Given the description of an element on the screen output the (x, y) to click on. 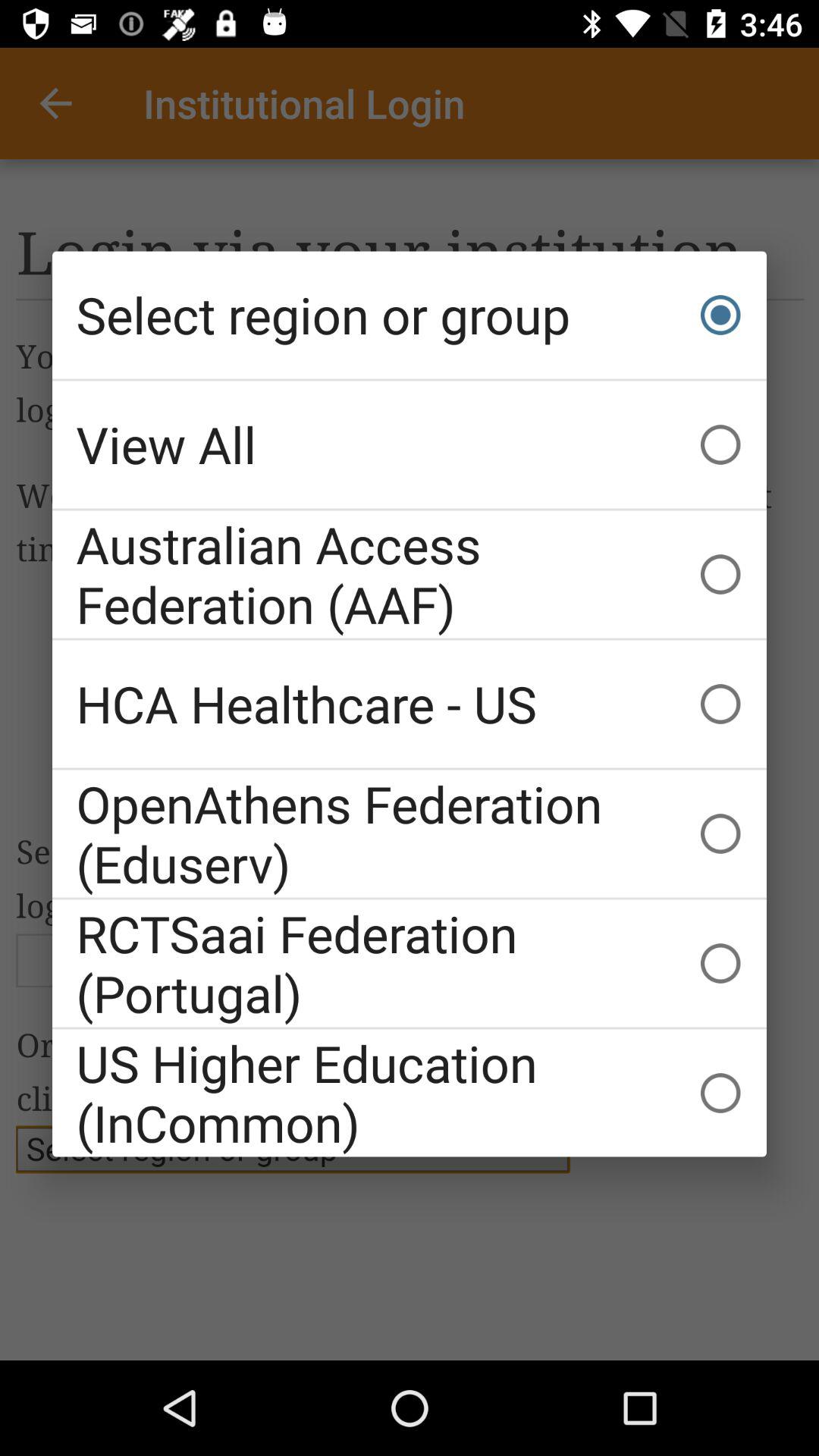
press item above australian access federation item (409, 444)
